Given the description of an element on the screen output the (x, y) to click on. 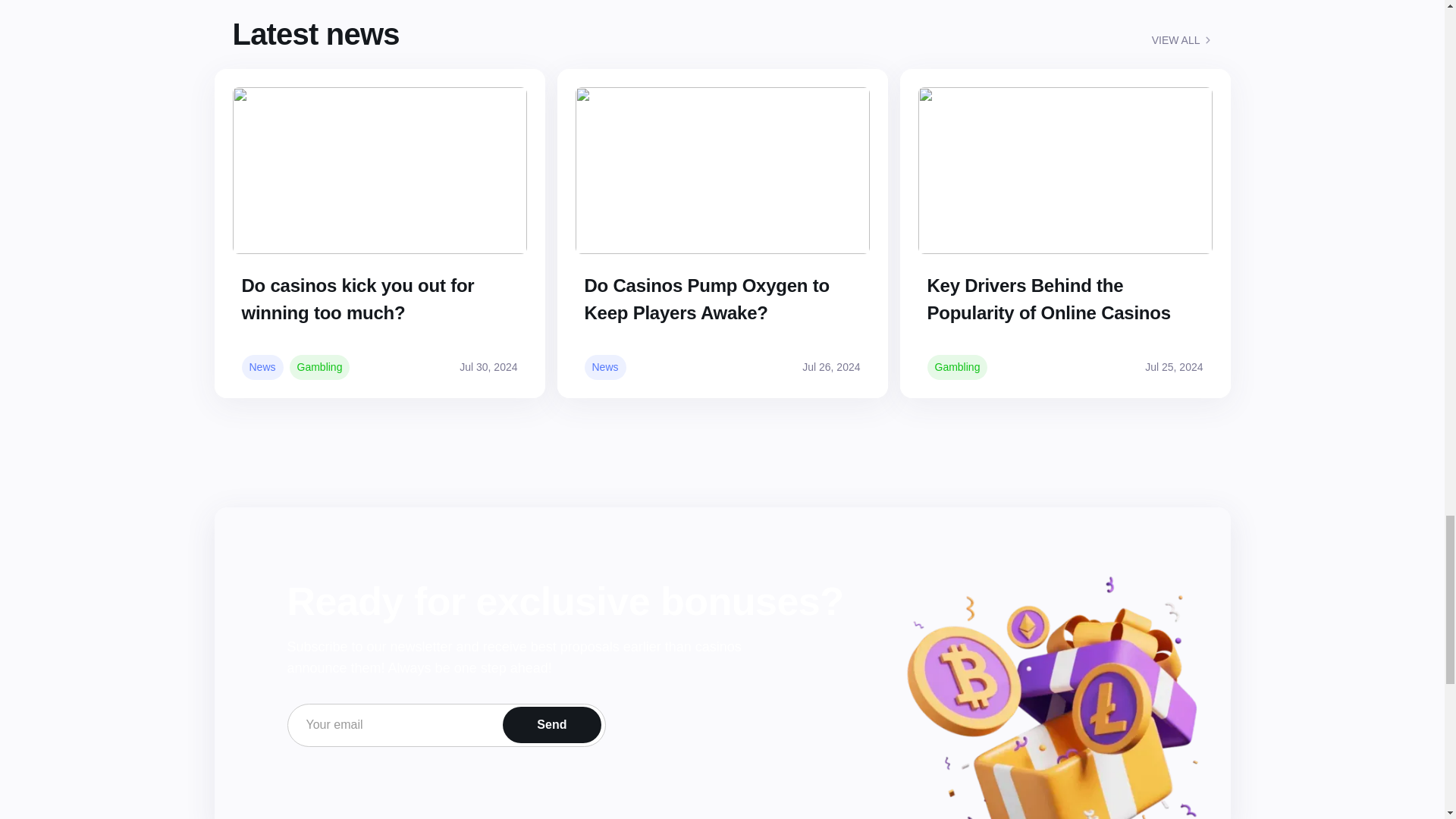
VIEW ALL (1181, 39)
Send (551, 724)
